Given the description of an element on the screen output the (x, y) to click on. 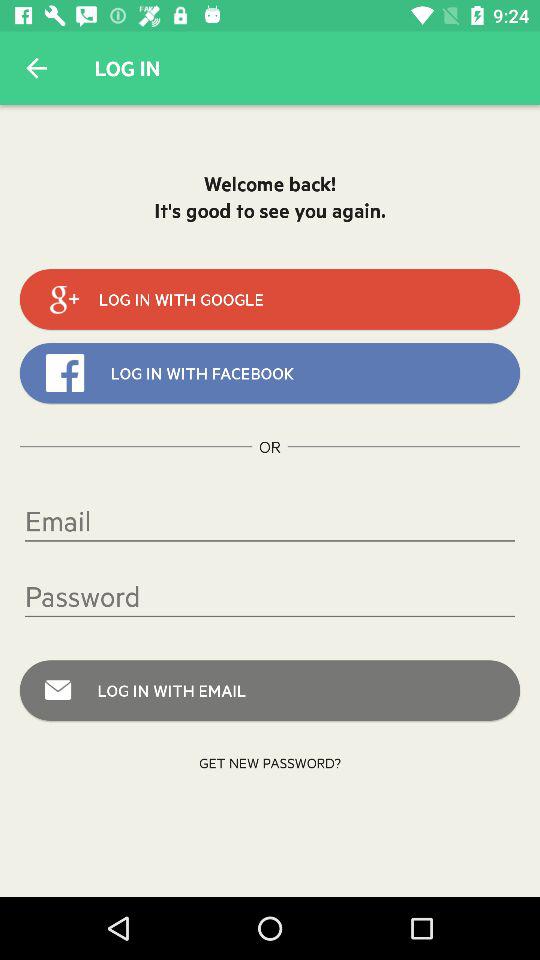
press icon next to log in item (36, 68)
